Given the description of an element on the screen output the (x, y) to click on. 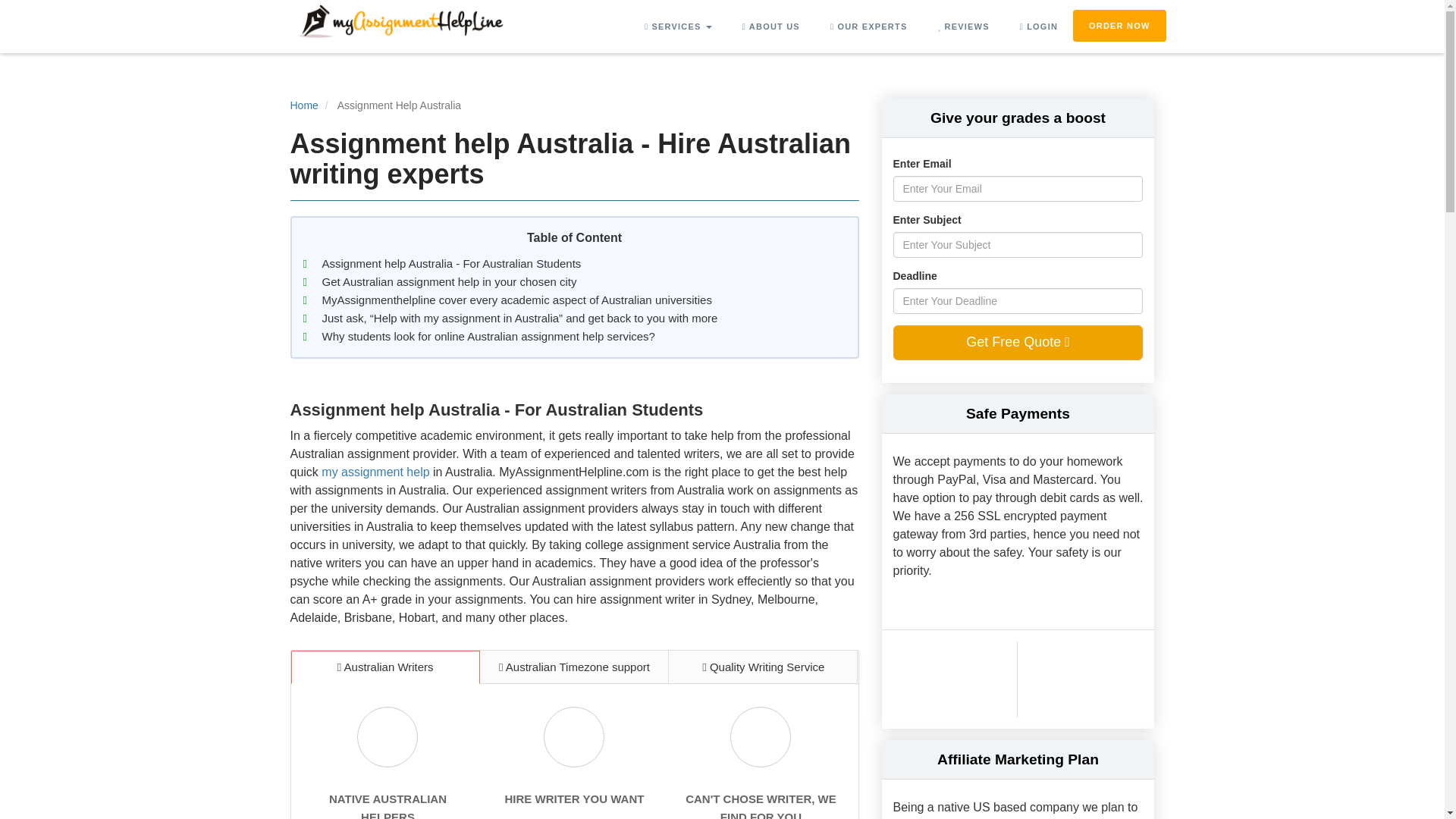
SERVICES (677, 26)
Get Free Quote (1017, 342)
ORDER NOW (1119, 25)
Australian Timezone support (574, 666)
my assignment help (375, 472)
Get Australian assignment help in your chosen city (448, 281)
LOGIN (1038, 26)
Assignment help Australia - For Australian Students (450, 263)
ABOUT US (770, 26)
Quality Writing Service (762, 666)
OUR EXPERTS (869, 26)
Australian Writers (385, 666)
Home (303, 105)
